Given the description of an element on the screen output the (x, y) to click on. 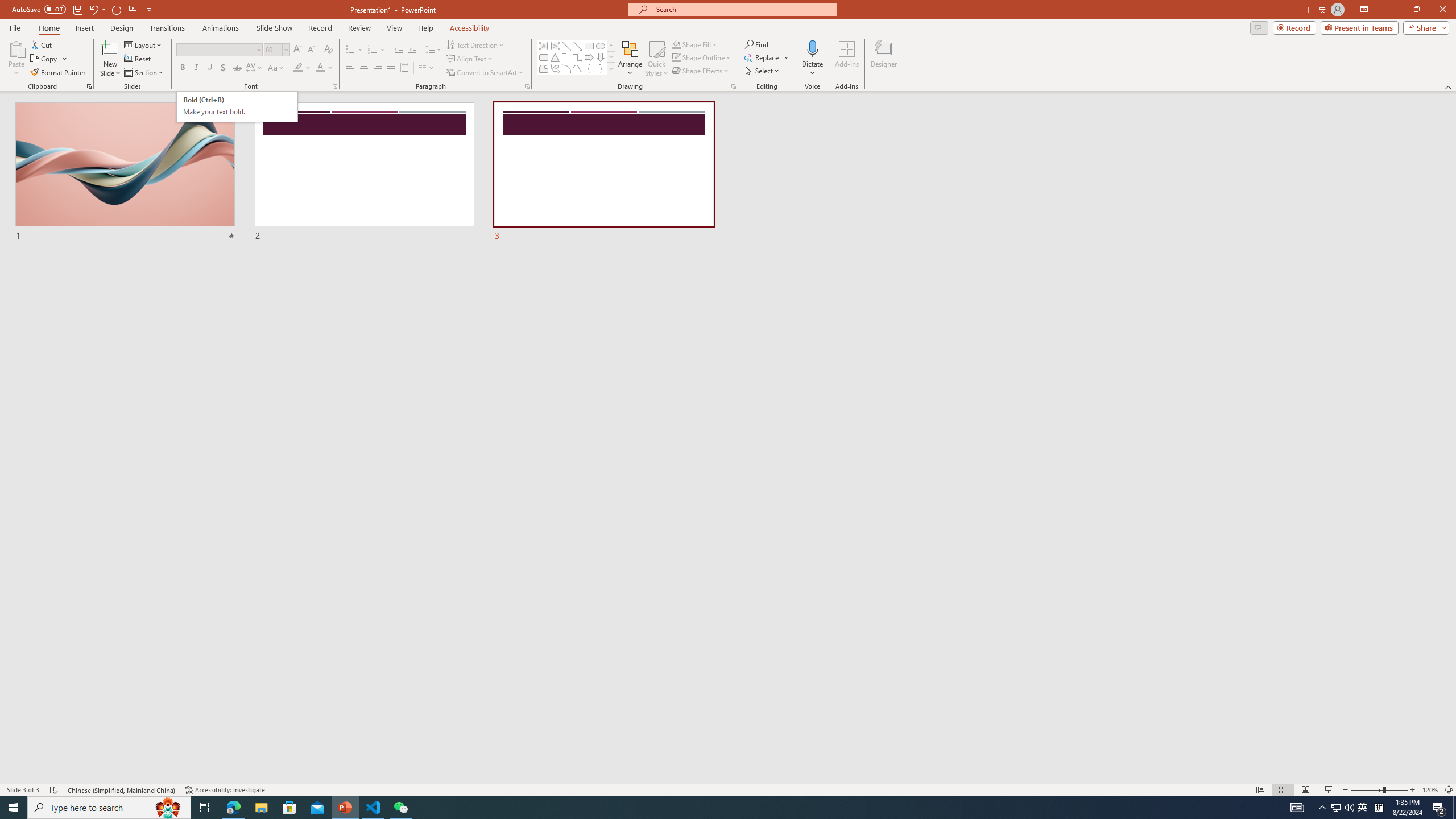
Arc (566, 68)
Paragraph... (526, 85)
Character Spacing (254, 67)
System (6, 6)
View (395, 28)
Numbering (376, 49)
Section (144, 72)
Change Case (276, 67)
Save (77, 9)
Decrease Font Size (310, 49)
Format Object... (733, 85)
Shape Effects (700, 69)
Microsoft search (742, 9)
Redo (117, 9)
Shape Fill Orange, Accent 2 (675, 44)
